Given the description of an element on the screen output the (x, y) to click on. 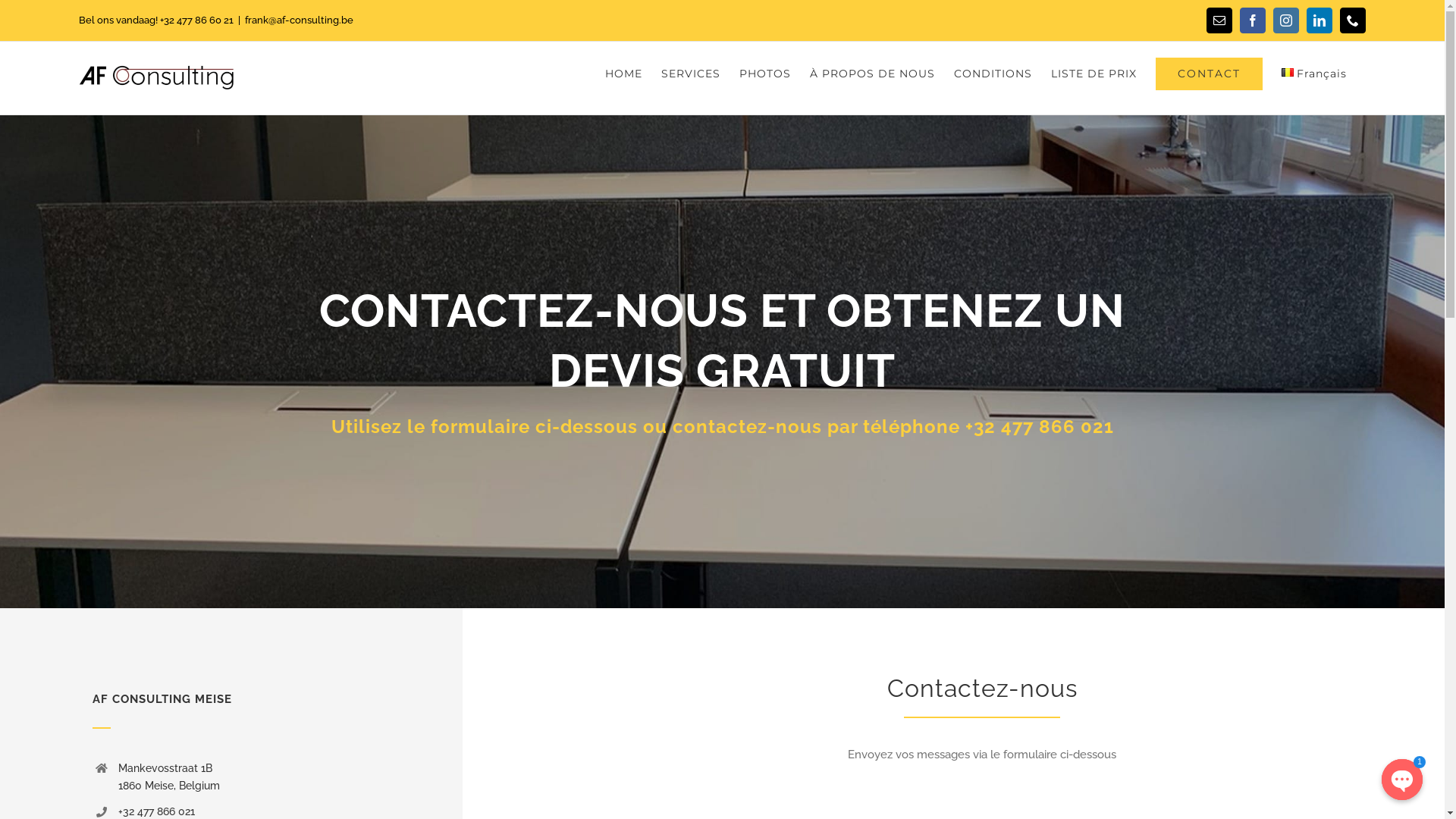
CONDITIONS Element type: text (992, 73)
Phone Element type: text (1352, 20)
frank@af-consulting.be Element type: text (298, 19)
SERVICES Element type: text (690, 73)
HOME Element type: text (623, 73)
Email Element type: text (1219, 20)
CONTACT Element type: text (1208, 73)
Facebook Element type: text (1252, 20)
LinkedIn Element type: text (1319, 20)
Instagram Element type: text (1286, 20)
PHOTOS Element type: text (764, 73)
LISTE DE PRIX Element type: text (1093, 73)
